Given the description of an element on the screen output the (x, y) to click on. 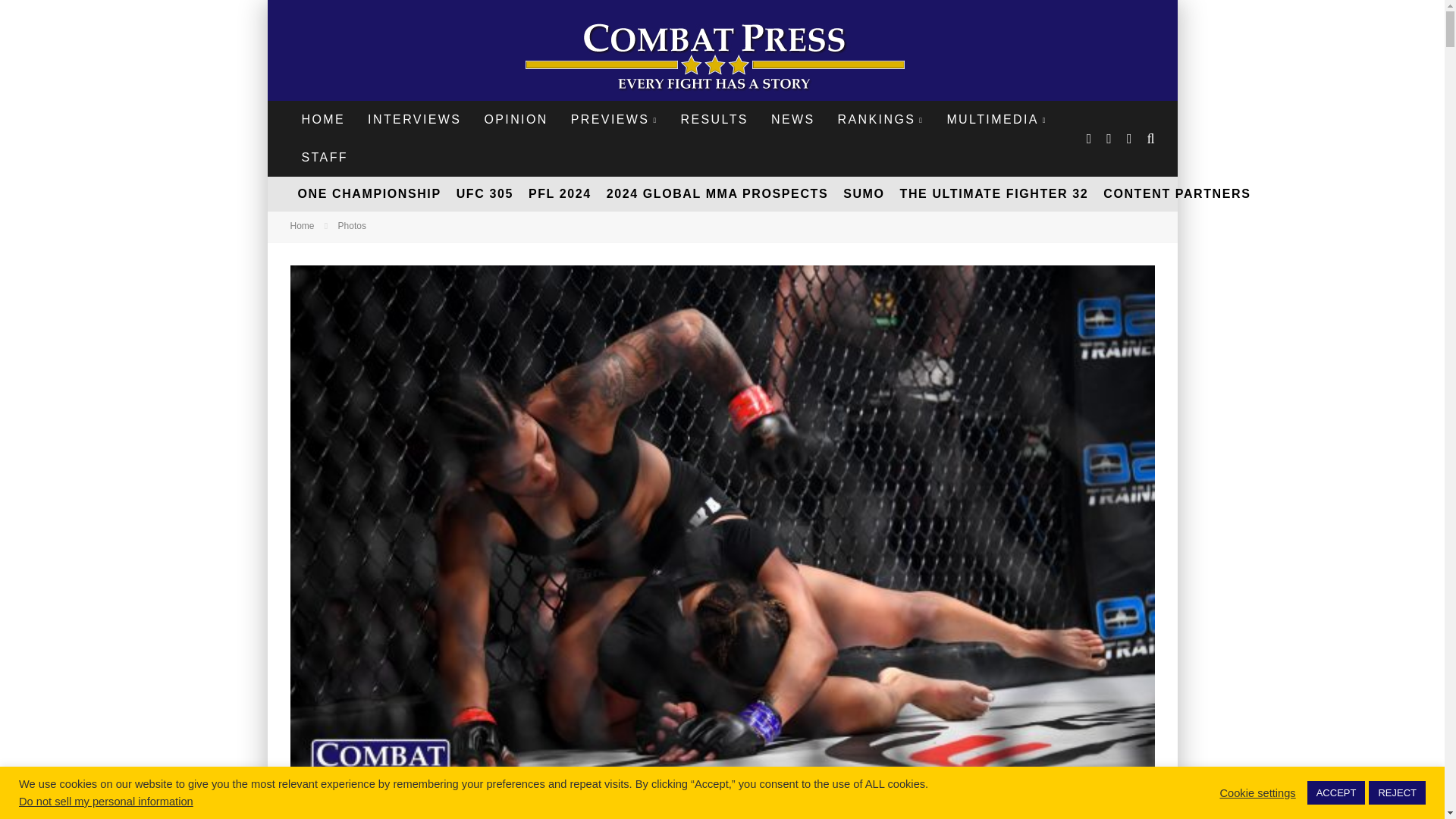
HOME (322, 119)
OPINION (515, 119)
INTERVIEWS (413, 119)
